Given the description of an element on the screen output the (x, y) to click on. 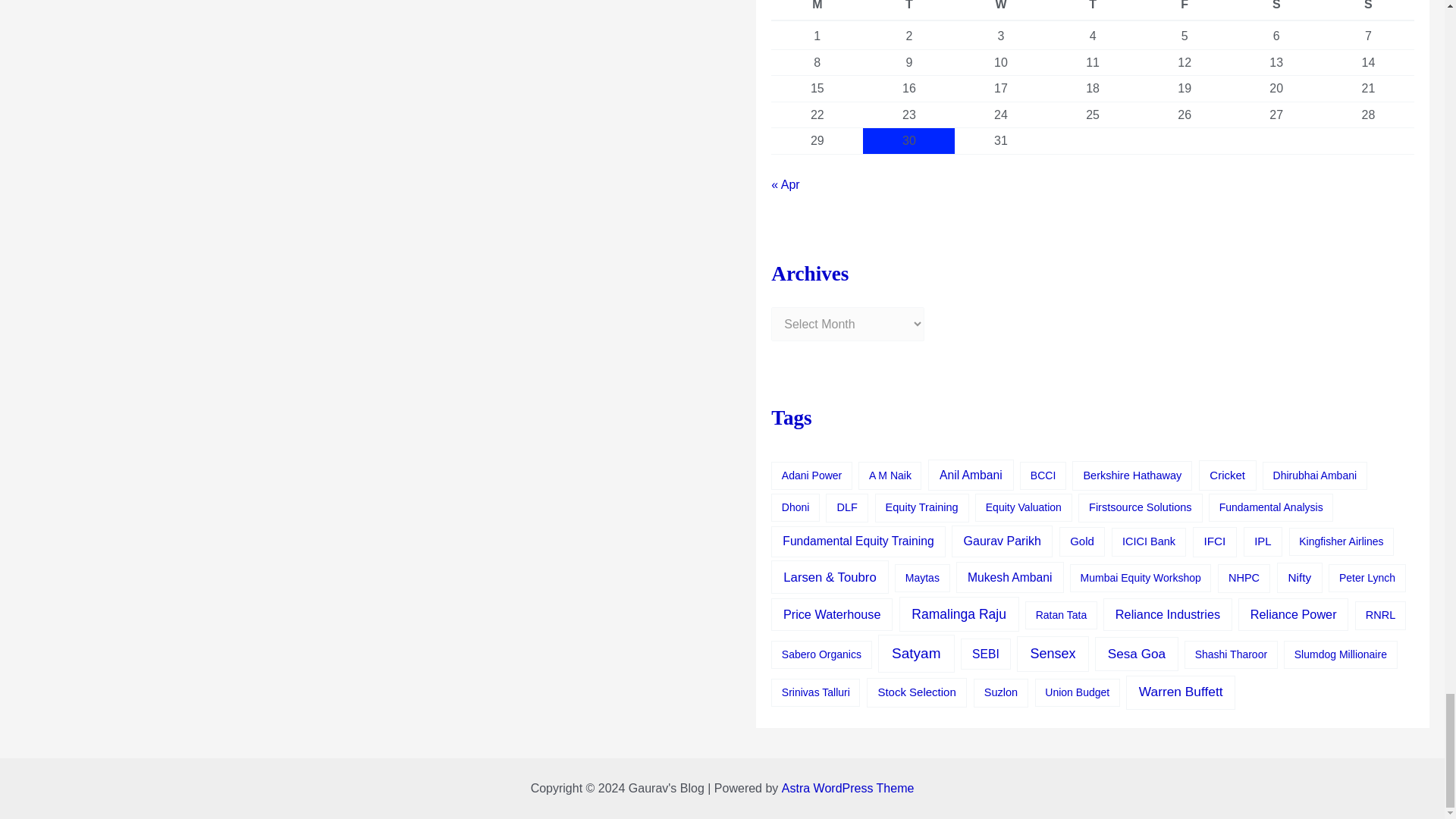
Thursday (1092, 10)
Saturday (1276, 10)
Sunday (1367, 10)
Monday (817, 10)
Tuesday (909, 10)
Friday (1184, 10)
Wednesday (1000, 10)
